Given the description of an element on the screen output the (x, y) to click on. 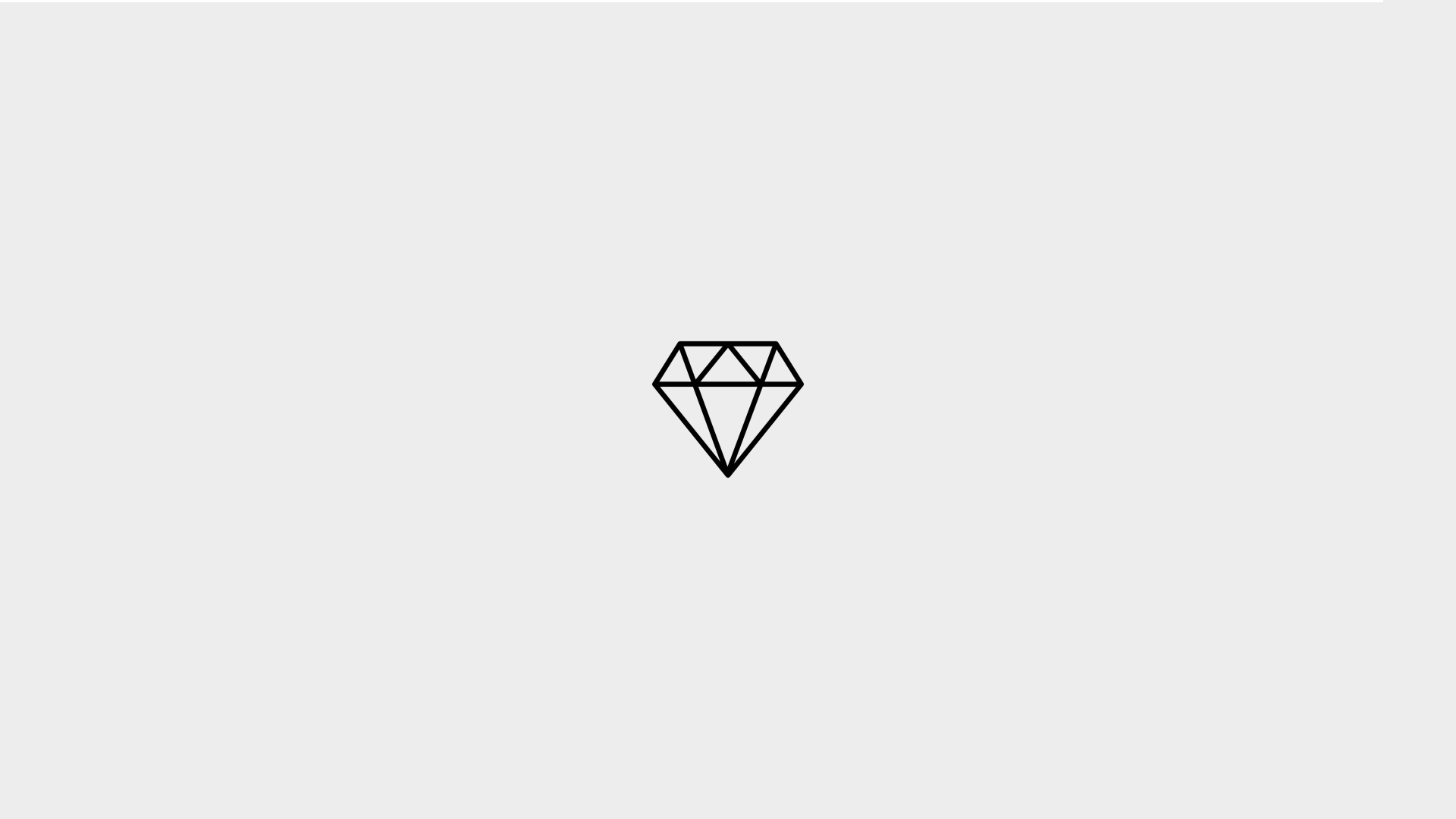
BRIDAL Element type: text (715, 152)
English Element type: text (1233, 12)
Google Plus Element type: hover (339, 85)
facebook Element type: hover (899, 634)
THE HOUSE Element type: text (537, 152)
instagram Element type: hover (926, 634)
Facebook Element type: hover (315, 85)
0428 186 547 Element type: text (958, 545)
NEWS Element type: text (882, 152)
(07) 5538 0740 Element type: text (365, 15)
JEWELLERY Element type: text (632, 152)
Email Element type: hover (290, 85)
info@10ants.com.au Element type: text (971, 573)
171 Surf Parade, Broadbeach, Gold Coast, QLD, 4218 Element type: text (684, 15)
171 Surf Parade, Broadbeach, Gold Coast, QLD, 4218 Element type: text (1015, 490)
Instagram Element type: hover (365, 85)
GALLERIES Element type: text (797, 152)
(07) 5538 0740 Element type: text (945, 518)
info@10ants.com.au Element type: text (480, 15)
googleplus Element type: hover (959, 634)
